Given the description of an element on the screen output the (x, y) to click on. 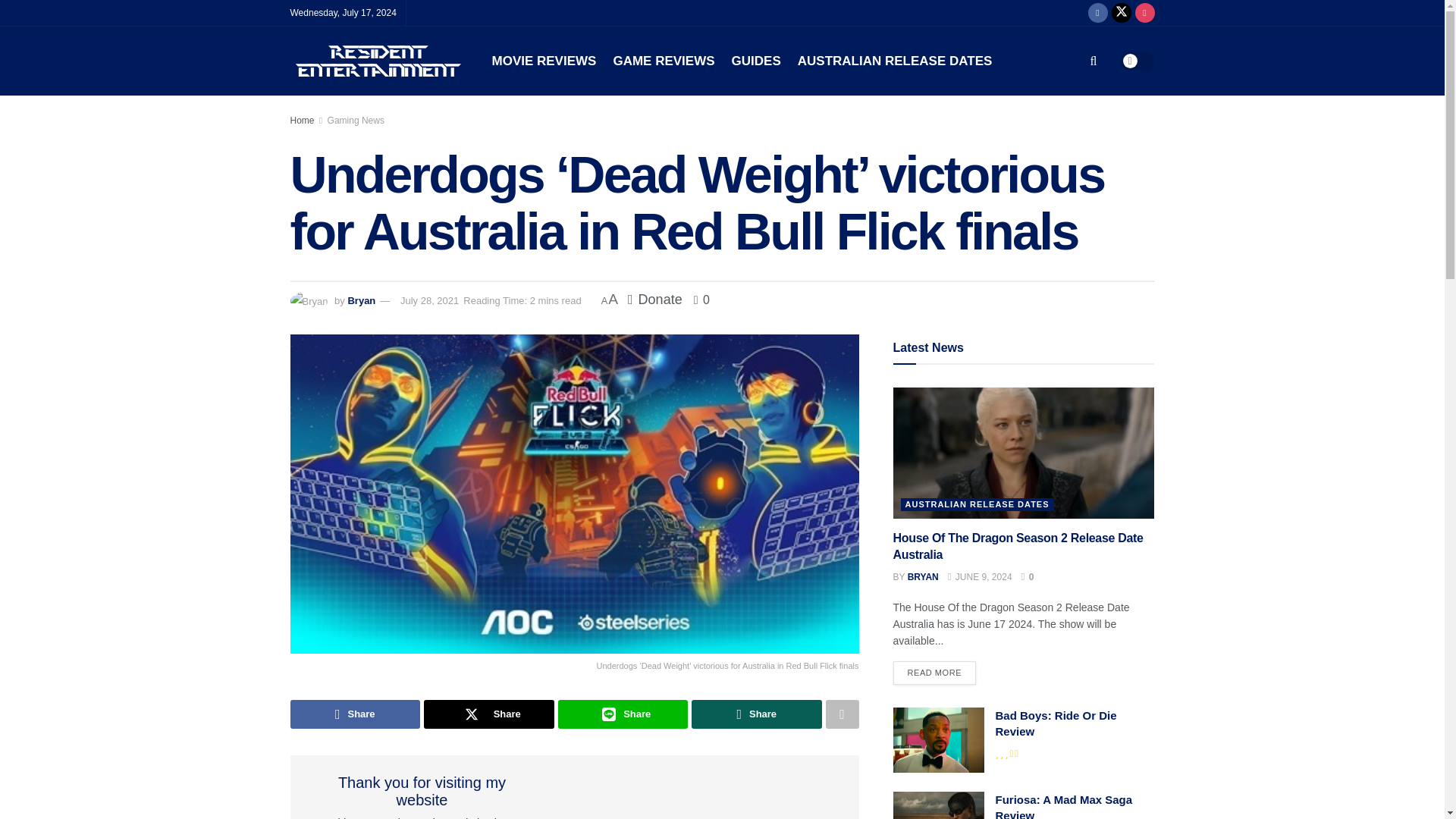
GUIDES (756, 61)
July 28, 2021 (429, 300)
GAME REVIEWS (663, 61)
Share (622, 714)
MOVIE REVIEWS (543, 61)
Gaming News (355, 120)
AUSTRALIAN RELEASE DATES (894, 61)
Home (301, 120)
Share (488, 714)
Bryan (361, 300)
Share (354, 714)
Share (756, 714)
Donate (654, 299)
0 (702, 299)
